Given the description of an element on the screen output the (x, y) to click on. 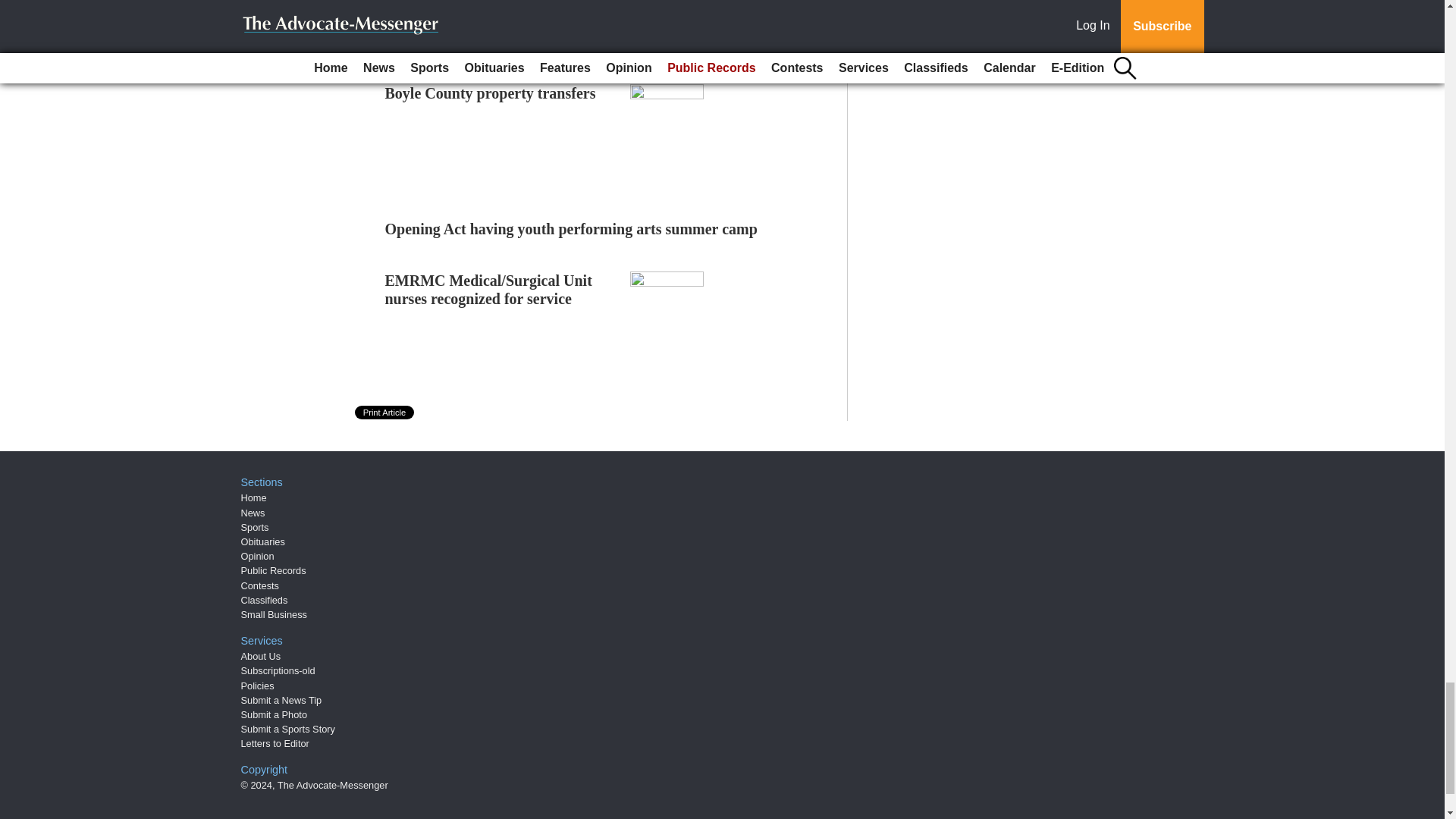
Opening Act having youth performing arts summer camp (571, 228)
Boyle County property transfers (490, 93)
Sports (255, 527)
Print Article (384, 412)
Opinion (258, 555)
Home (253, 497)
Obituaries (263, 541)
News (252, 512)
Opening Act having youth performing arts summer camp (571, 228)
Boyle County property transfers (490, 93)
